Given the description of an element on the screen output the (x, y) to click on. 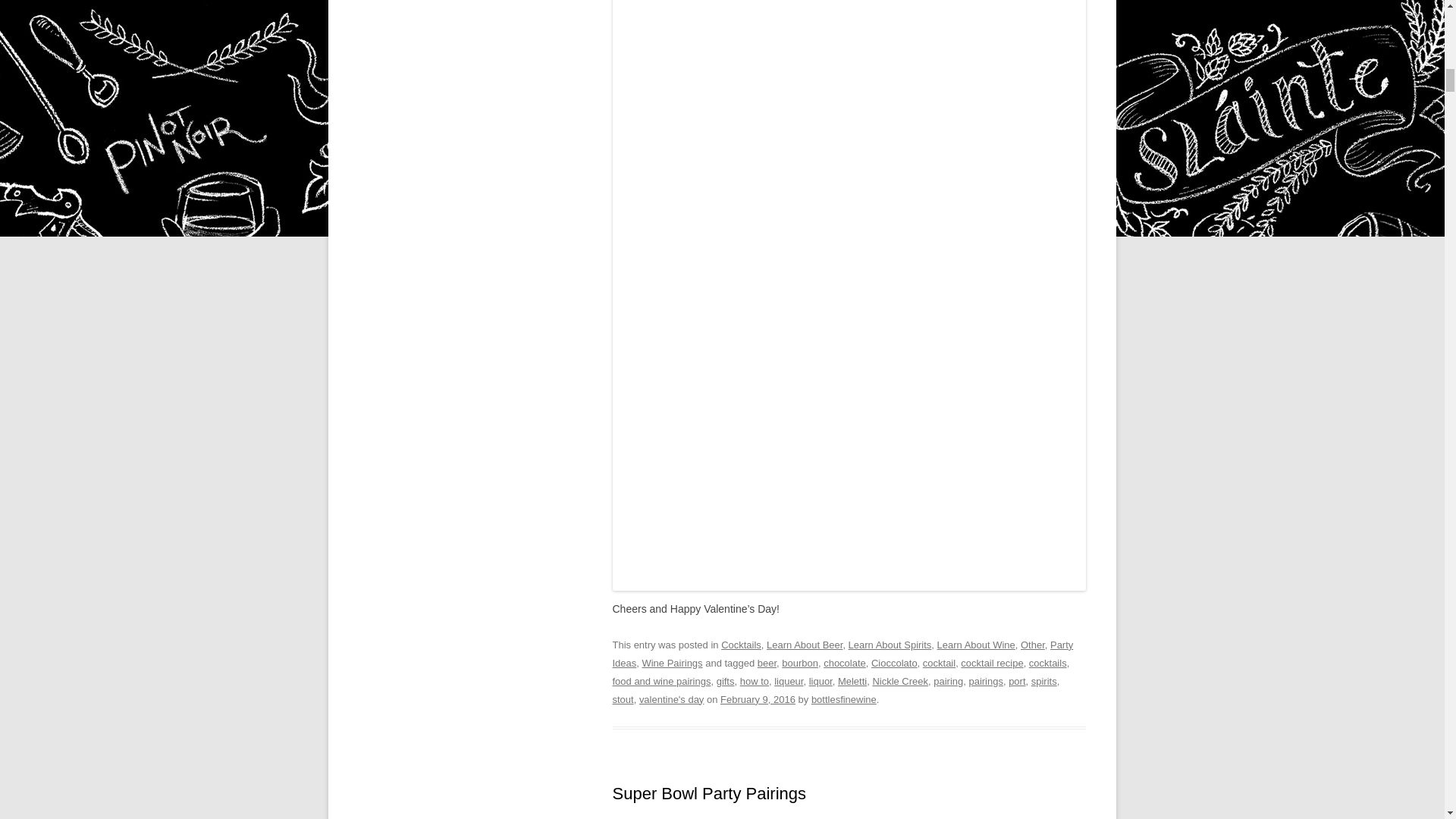
Cocktails (740, 644)
spirits (1043, 681)
9:08 PM (757, 698)
chocolate (845, 663)
Nickle Creek (900, 681)
Meletti (852, 681)
Other (1032, 644)
how to (753, 681)
beer (766, 663)
cocktail (939, 663)
